Given the description of an element on the screen output the (x, y) to click on. 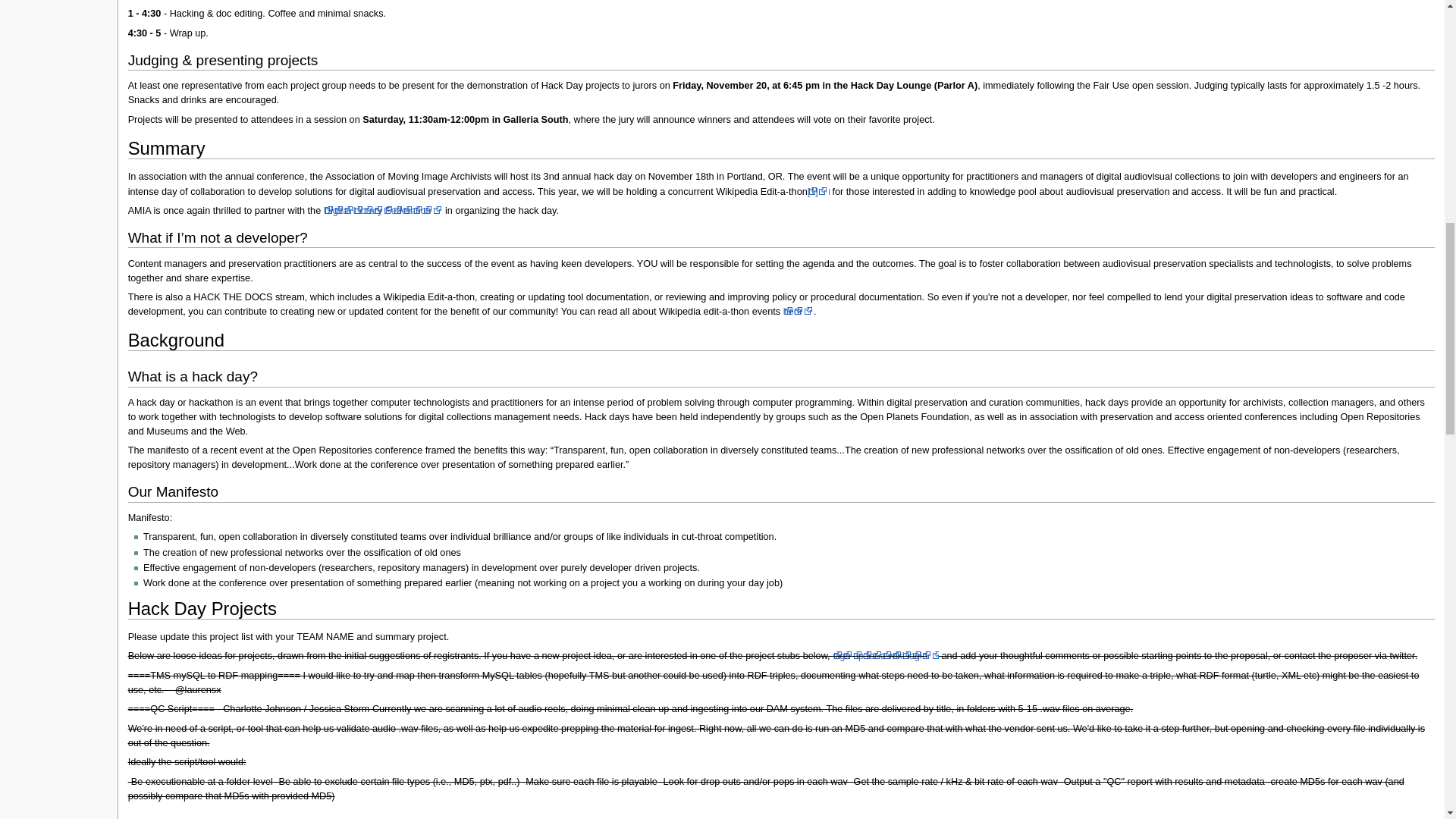
Digital Library Federation (382, 210)
here (798, 311)
sign up for a wiki login (885, 655)
